Given the description of an element on the screen output the (x, y) to click on. 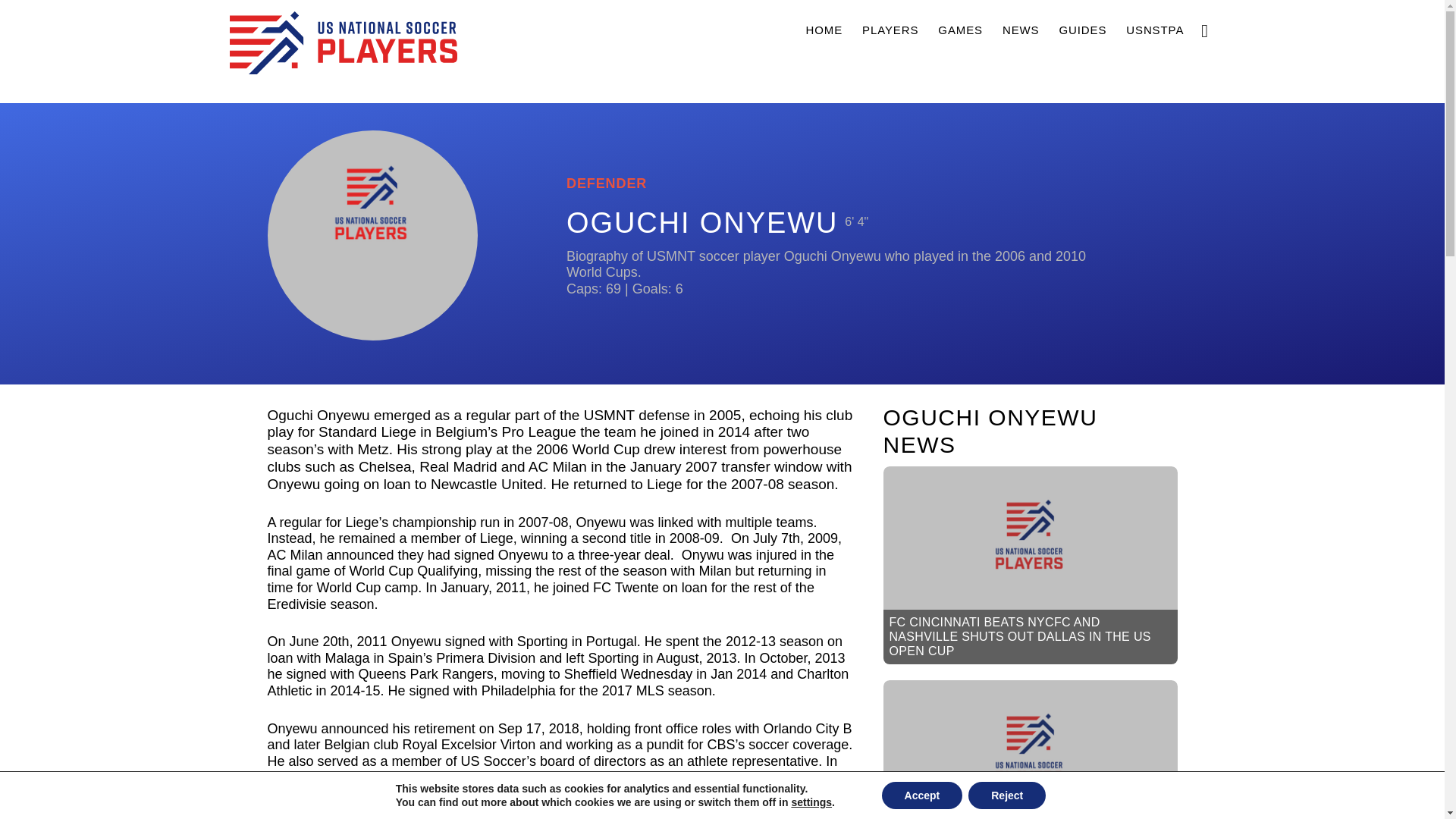
GAMES (960, 29)
NEWS (1020, 29)
settings (810, 802)
Reject (1006, 795)
HOME (823, 29)
Accept (922, 795)
GUIDES (1082, 29)
USNSTPA (1154, 29)
PLAYERS (890, 29)
